Given the description of an element on the screen output the (x, y) to click on. 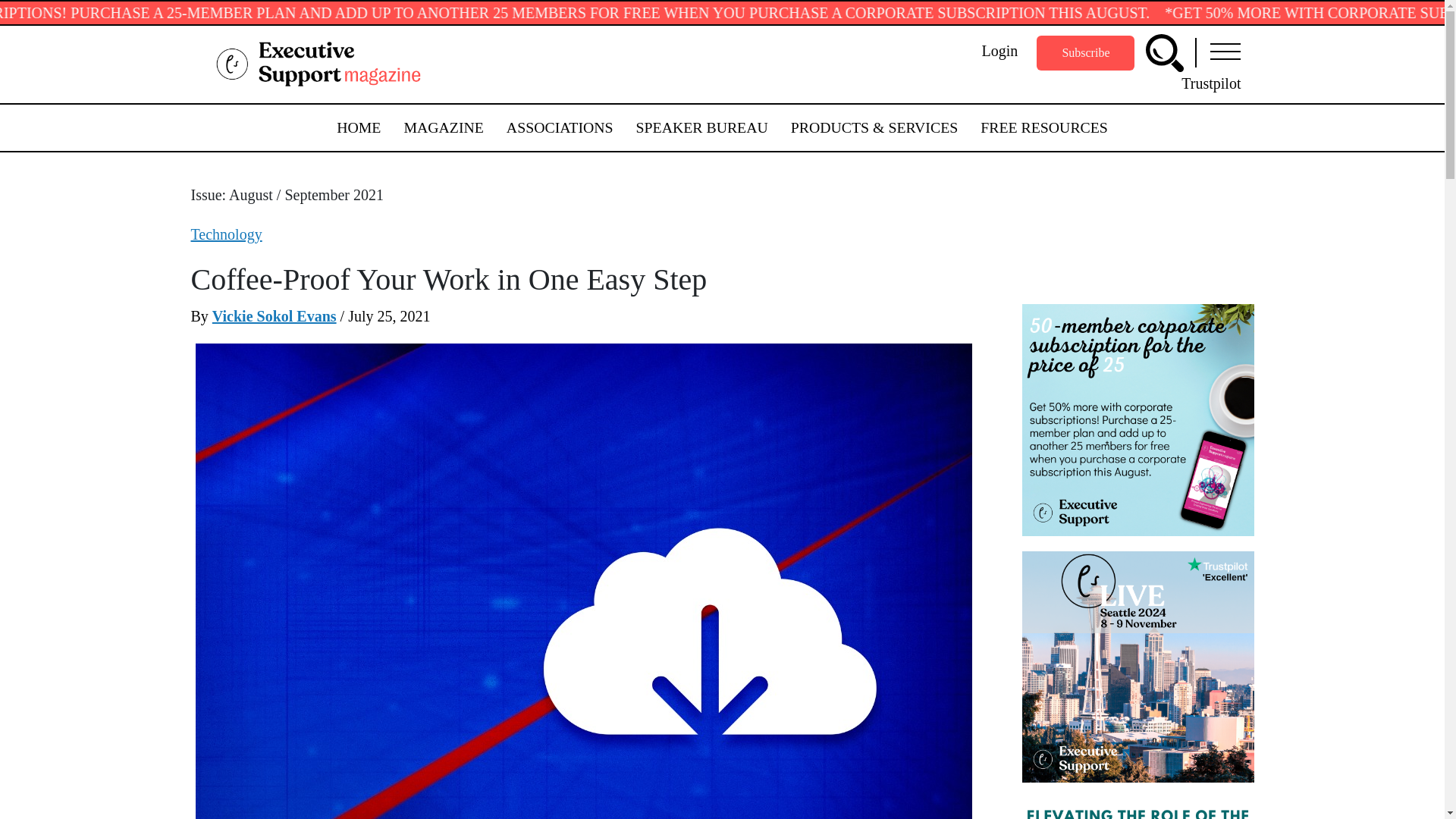
SPEAKER BUREAU (702, 126)
HOME (358, 126)
FREE RESOURCES (1043, 126)
MAGAZINE (443, 126)
Subscribe (1085, 53)
Trustpilot (1210, 83)
Login (999, 50)
Technology (226, 234)
Posts by Vickie Sokol Evans (274, 315)
ASSOCIATIONS (559, 126)
